Given the description of an element on the screen output the (x, y) to click on. 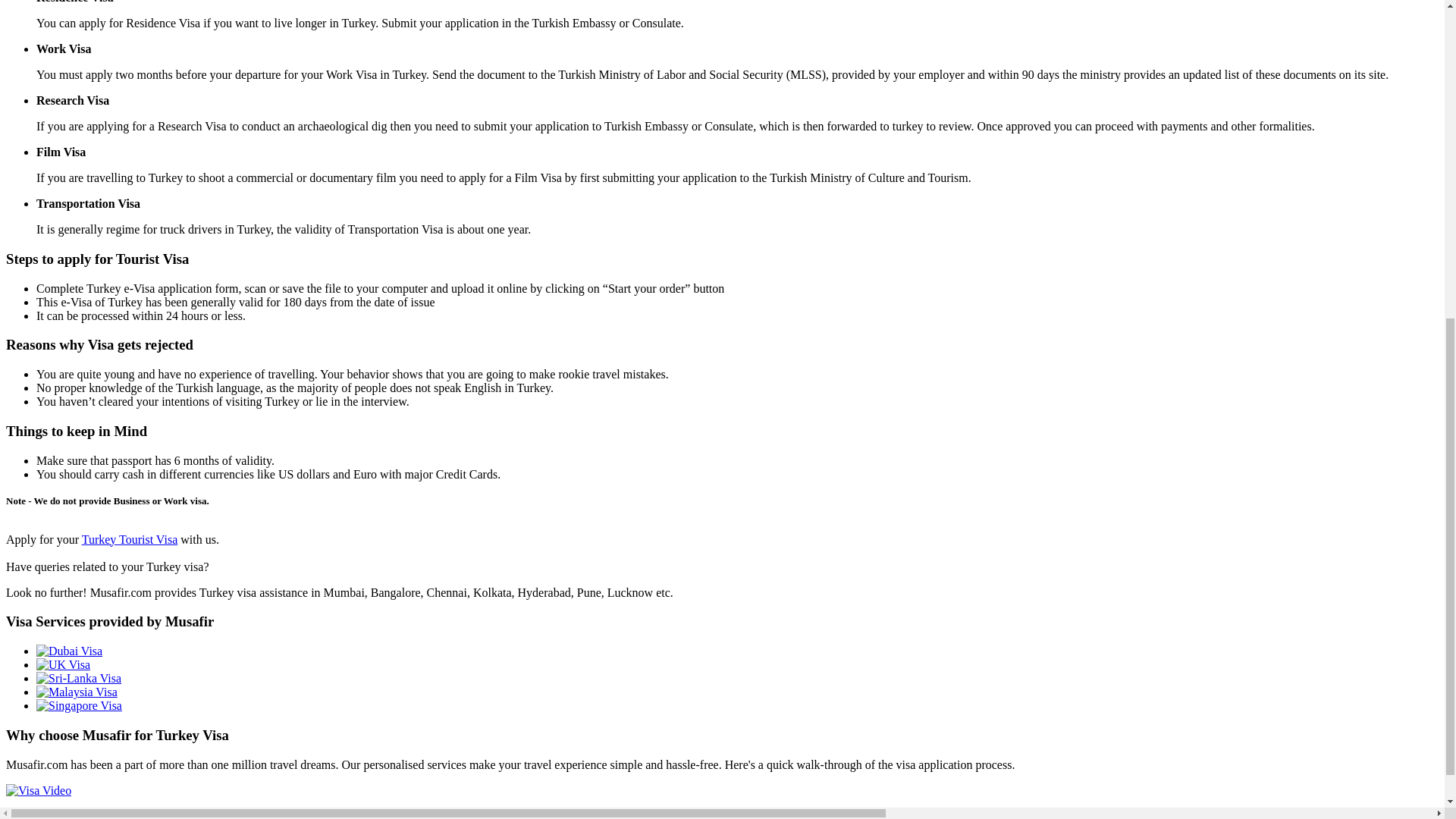
Dubai Visa (68, 651)
Turkey Tourist Visa (129, 539)
Malaysia Visa (76, 692)
Visa Video (38, 789)
Singapore Visa (79, 705)
Have queries related to your Turkey visa? (106, 566)
Sri-Lanka Visa (78, 678)
UK Visa (63, 664)
Why choose Musafir (721, 735)
